Given the description of an element on the screen output the (x, y) to click on. 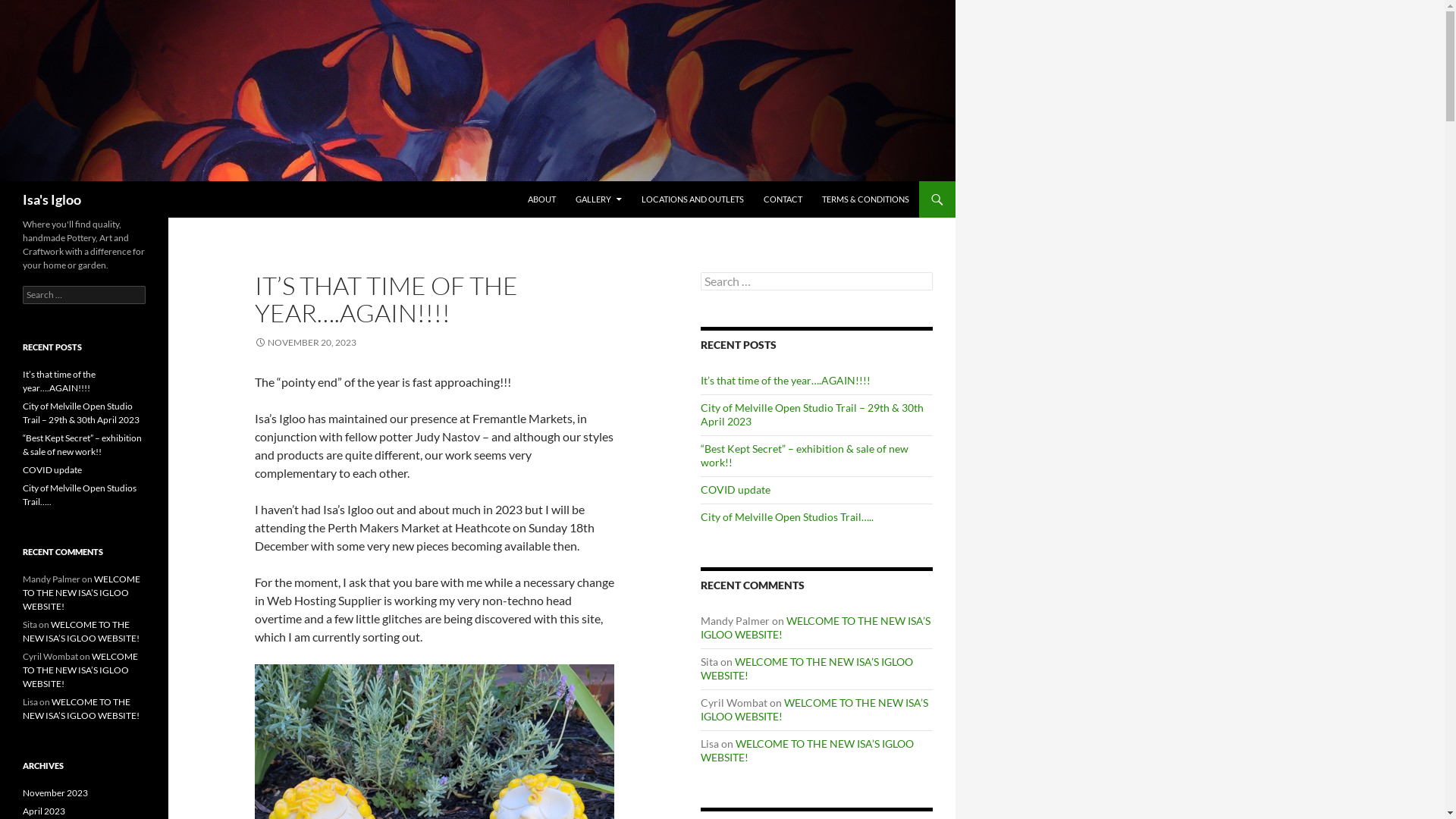
Isa's Igloo Element type: text (51, 199)
GALLERY Element type: text (598, 199)
LOCATIONS AND OUTLETS Element type: text (692, 199)
CONTACT Element type: text (782, 199)
COVID update Element type: text (735, 489)
SKIP TO CONTENT Element type: text (526, 180)
April 2023 Element type: text (43, 810)
ABOUT Element type: text (541, 199)
TERMS & CONDITIONS Element type: text (865, 199)
NOVEMBER 20, 2023 Element type: text (305, 342)
November 2023 Element type: text (54, 792)
Search Element type: text (29, 9)
COVID update Element type: text (51, 469)
Search Element type: text (3, 180)
